Given the description of an element on the screen output the (x, y) to click on. 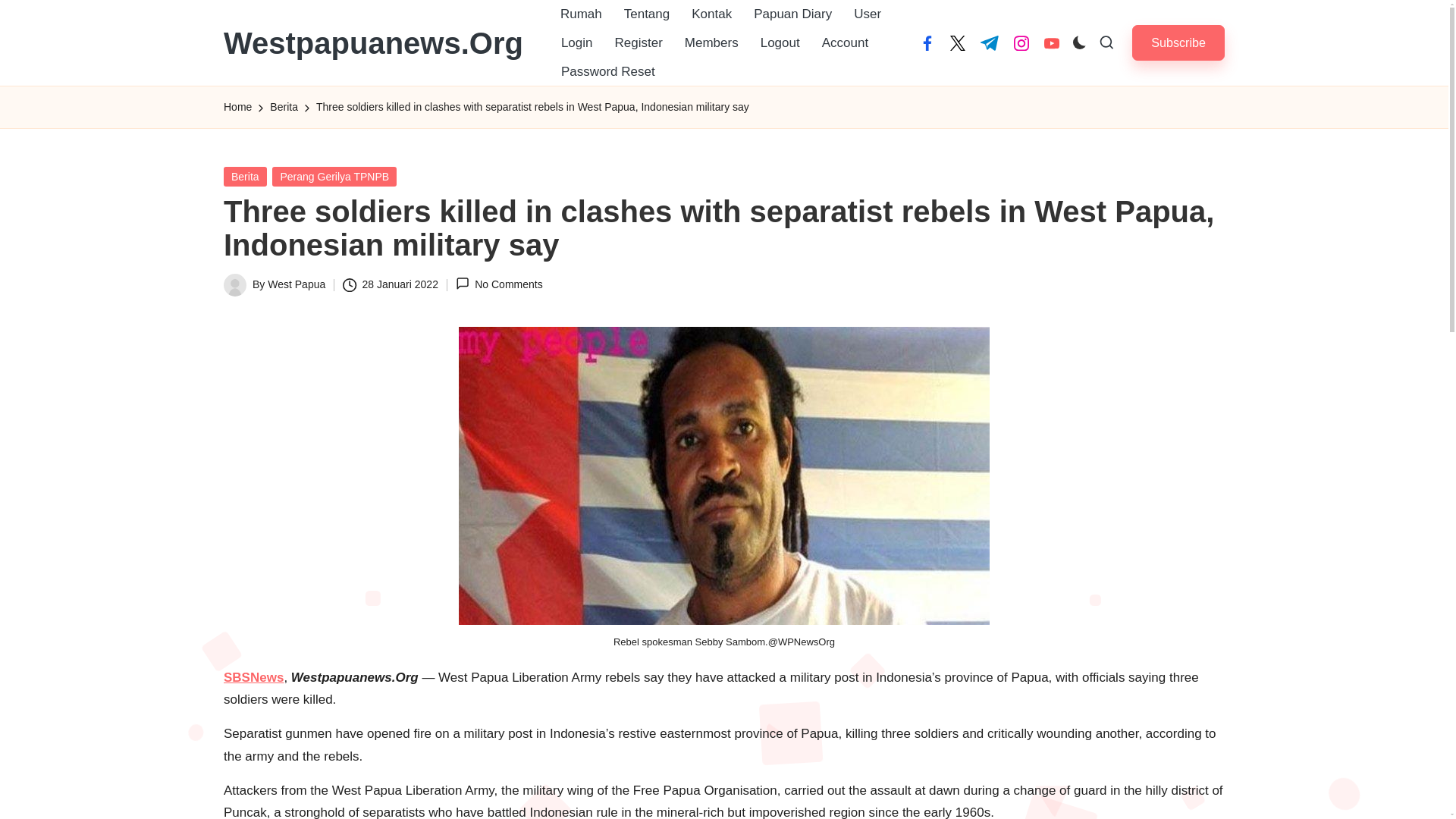
Berita (245, 176)
Account (844, 42)
Members (711, 42)
Register (638, 42)
Rumah (581, 14)
Kontak (711, 14)
Login (577, 42)
West Papua (295, 284)
Logout (779, 42)
Subscribe (1178, 42)
